Given the description of an element on the screen output the (x, y) to click on. 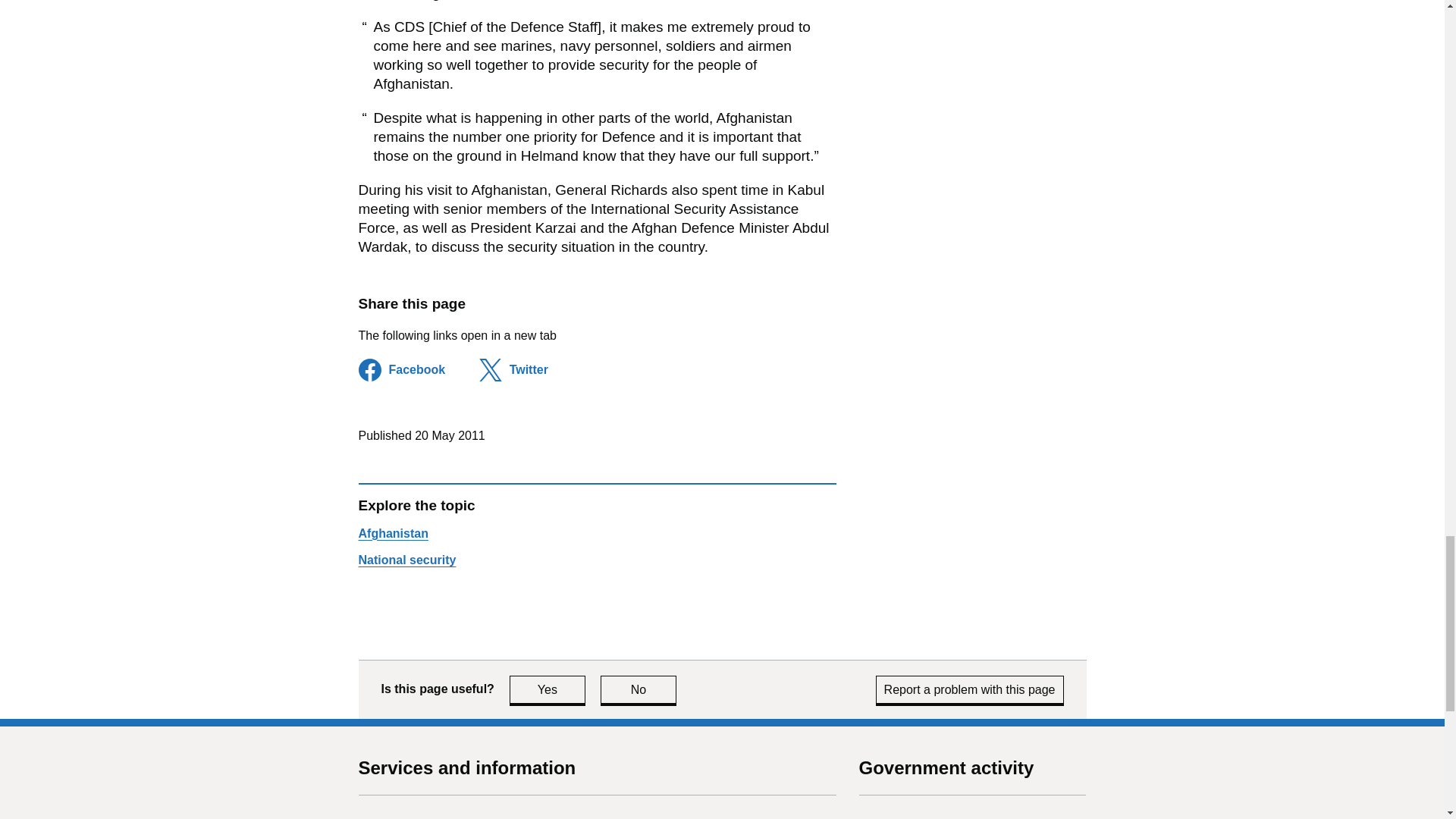
National security (406, 559)
Afghanistan (393, 533)
Report a problem with this page (547, 689)
